Given the description of an element on the screen output the (x, y) to click on. 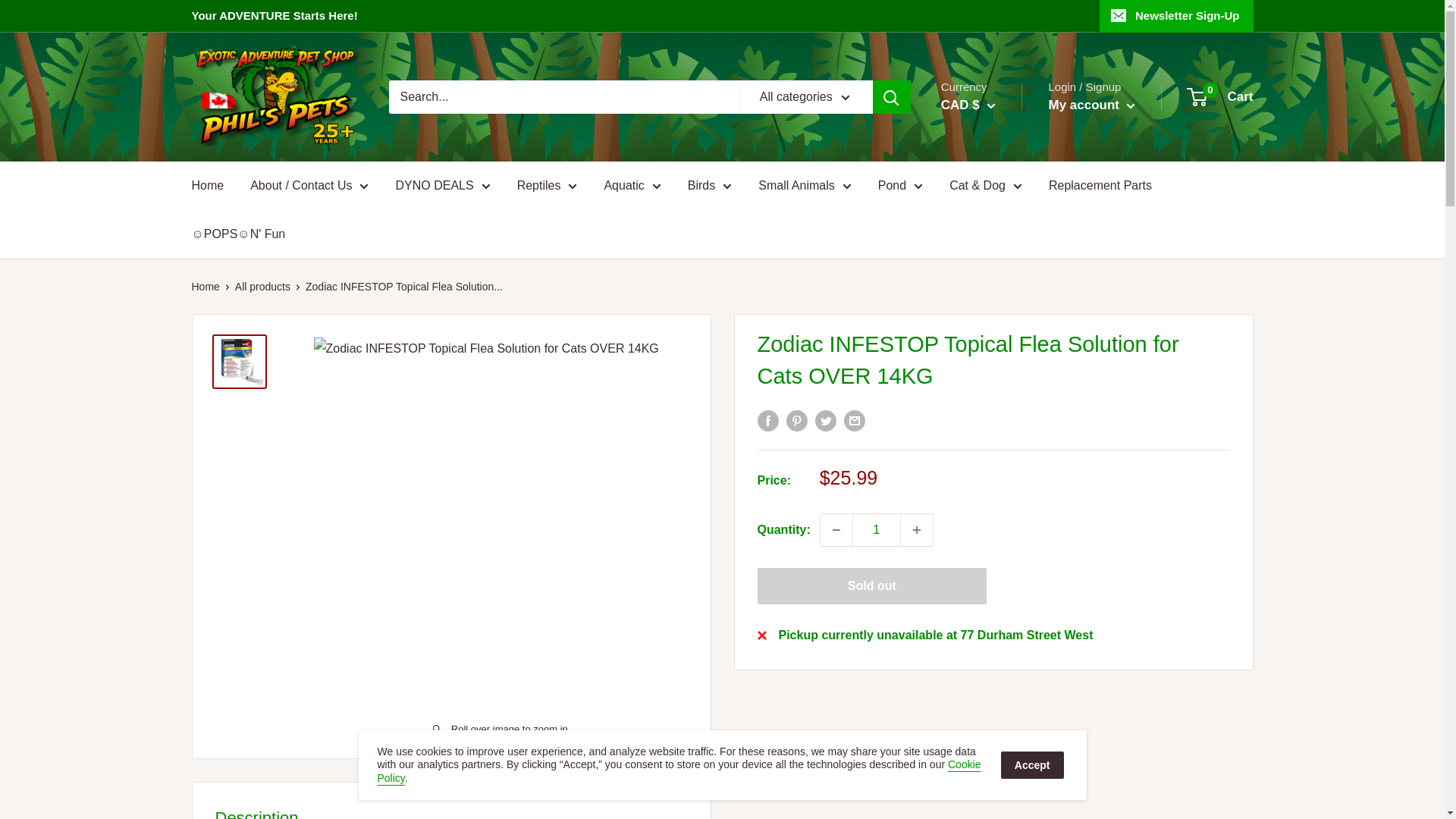
Decrease quantity by 1 (836, 530)
1 (876, 530)
Newsletter Sign-Up (1176, 15)
Increase quantity by 1 (917, 530)
